Given the description of an element on the screen output the (x, y) to click on. 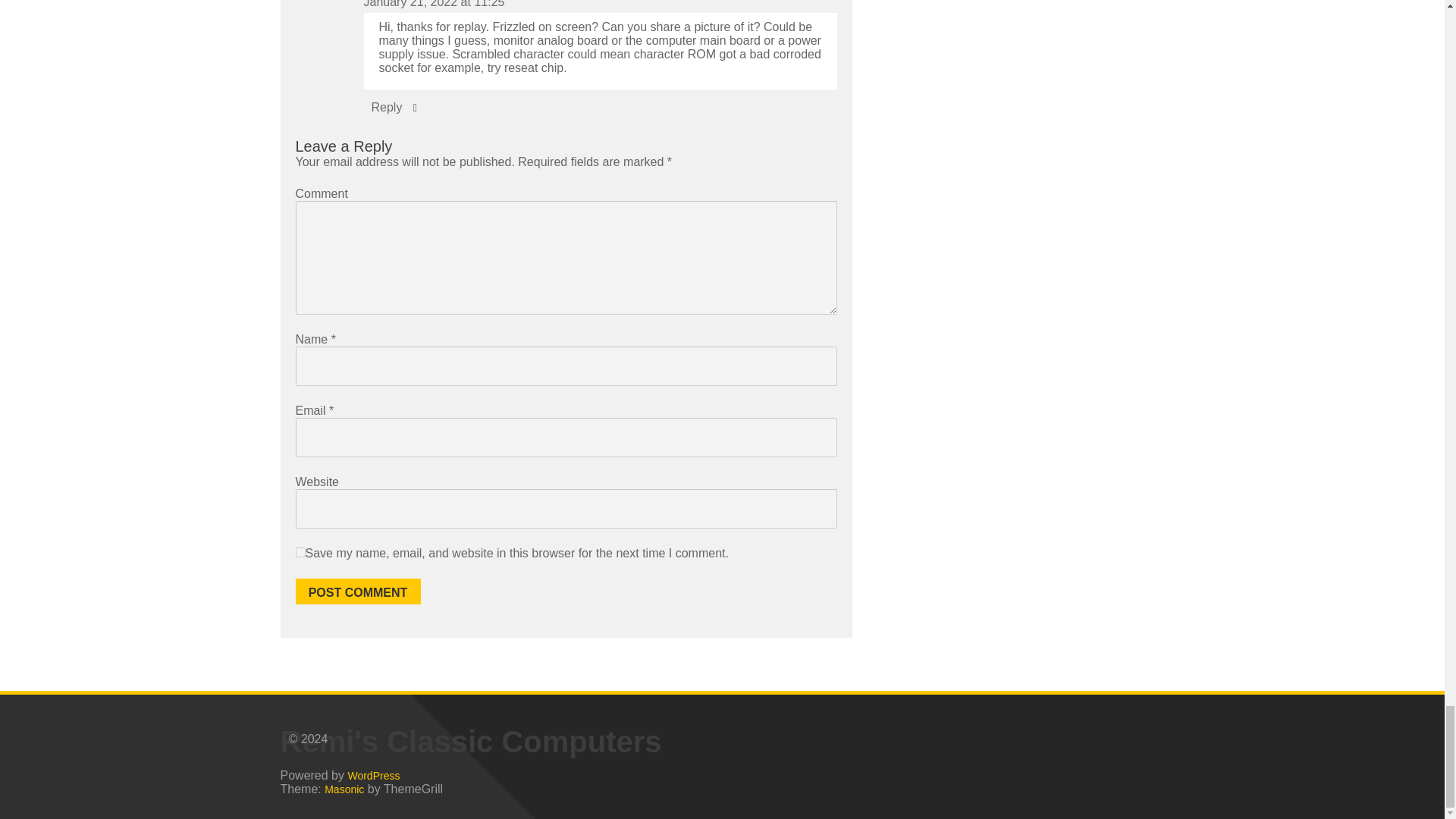
Reply (387, 106)
Post Comment (357, 591)
Post Comment (357, 591)
Masonic (344, 788)
January 21, 2022 at 11:25 (434, 4)
yes (300, 552)
WordPress (372, 775)
